Given the description of an element on the screen output the (x, y) to click on. 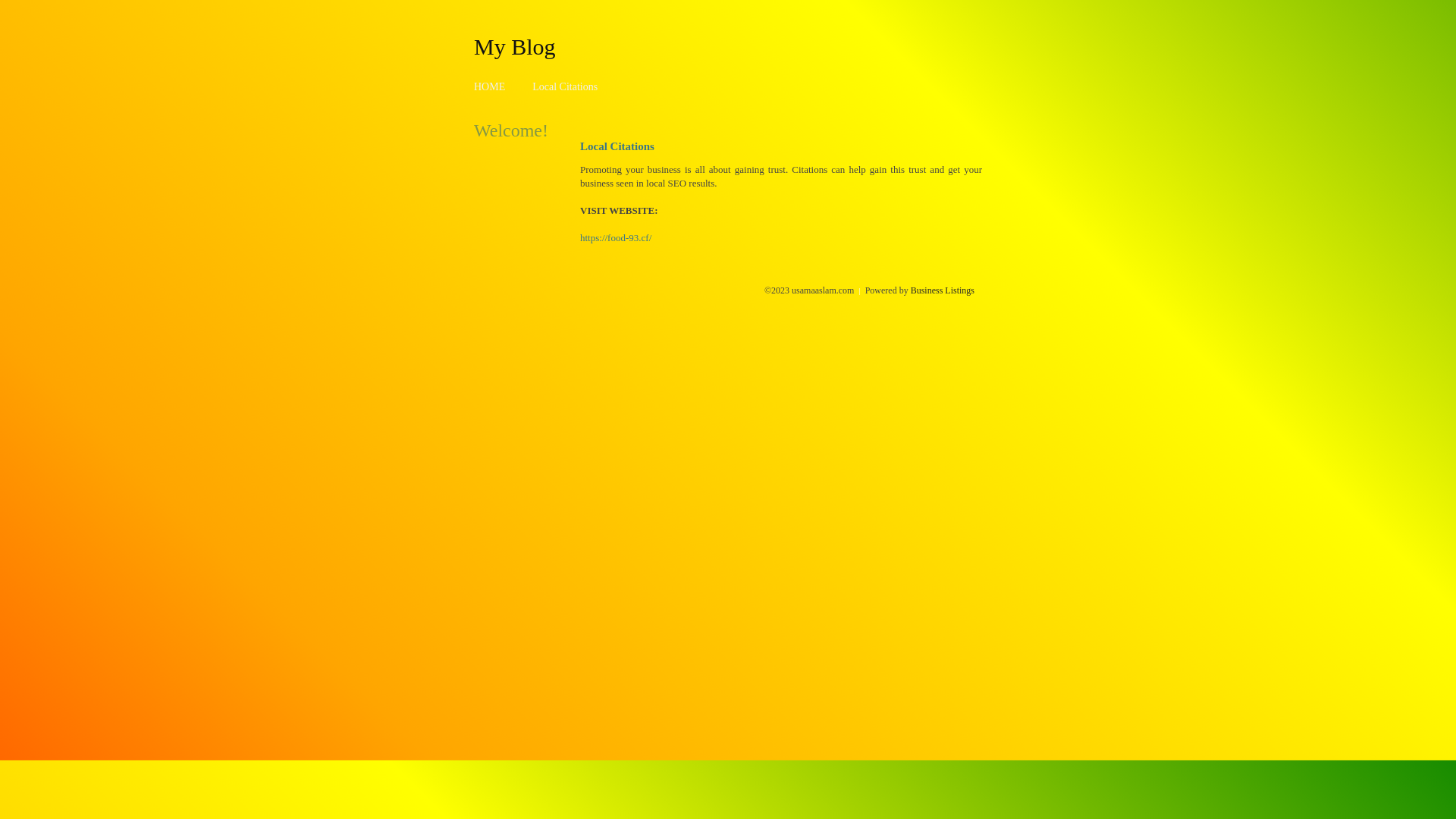
My Blog Element type: text (514, 46)
Business Listings Element type: text (942, 290)
https://food-93.cf/ Element type: text (615, 237)
Local Citations Element type: text (564, 86)
HOME Element type: text (489, 86)
